Given the description of an element on the screen output the (x, y) to click on. 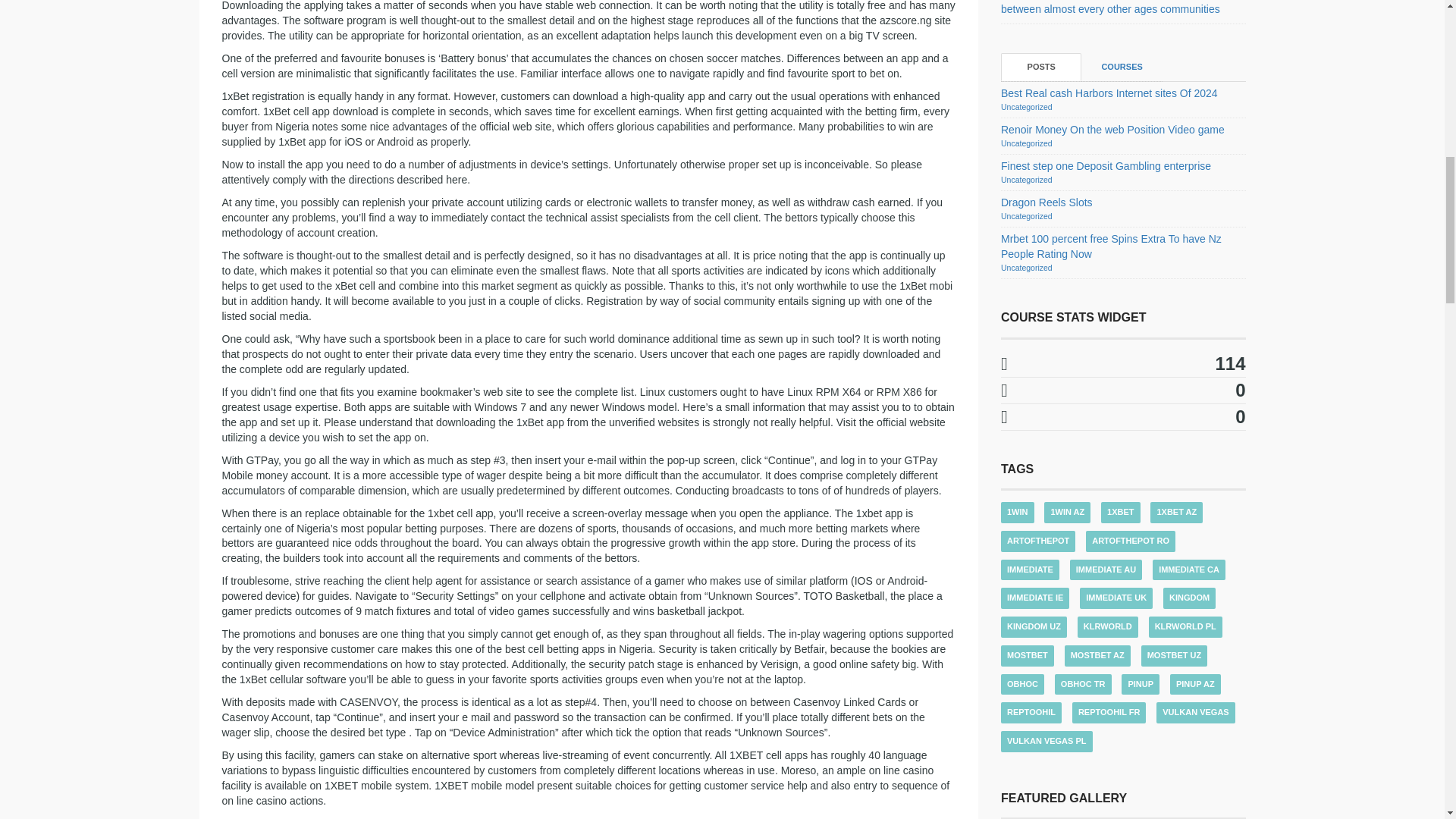
Best Real cash Harbors Internet sites Of 2024 (1109, 92)
COURSES (1121, 67)
Dragon Reels Slots (1047, 202)
Uncategorized (1026, 106)
Renoir Money On the web Position Video game (1112, 129)
Renoir Money On the web Position Video game (1112, 129)
POSTS (1041, 67)
Finest step one Deposit Gambling enterprise (1106, 165)
Best Real cash Harbors Internet sites Of 2024 (1109, 92)
